Given the description of an element on the screen output the (x, y) to click on. 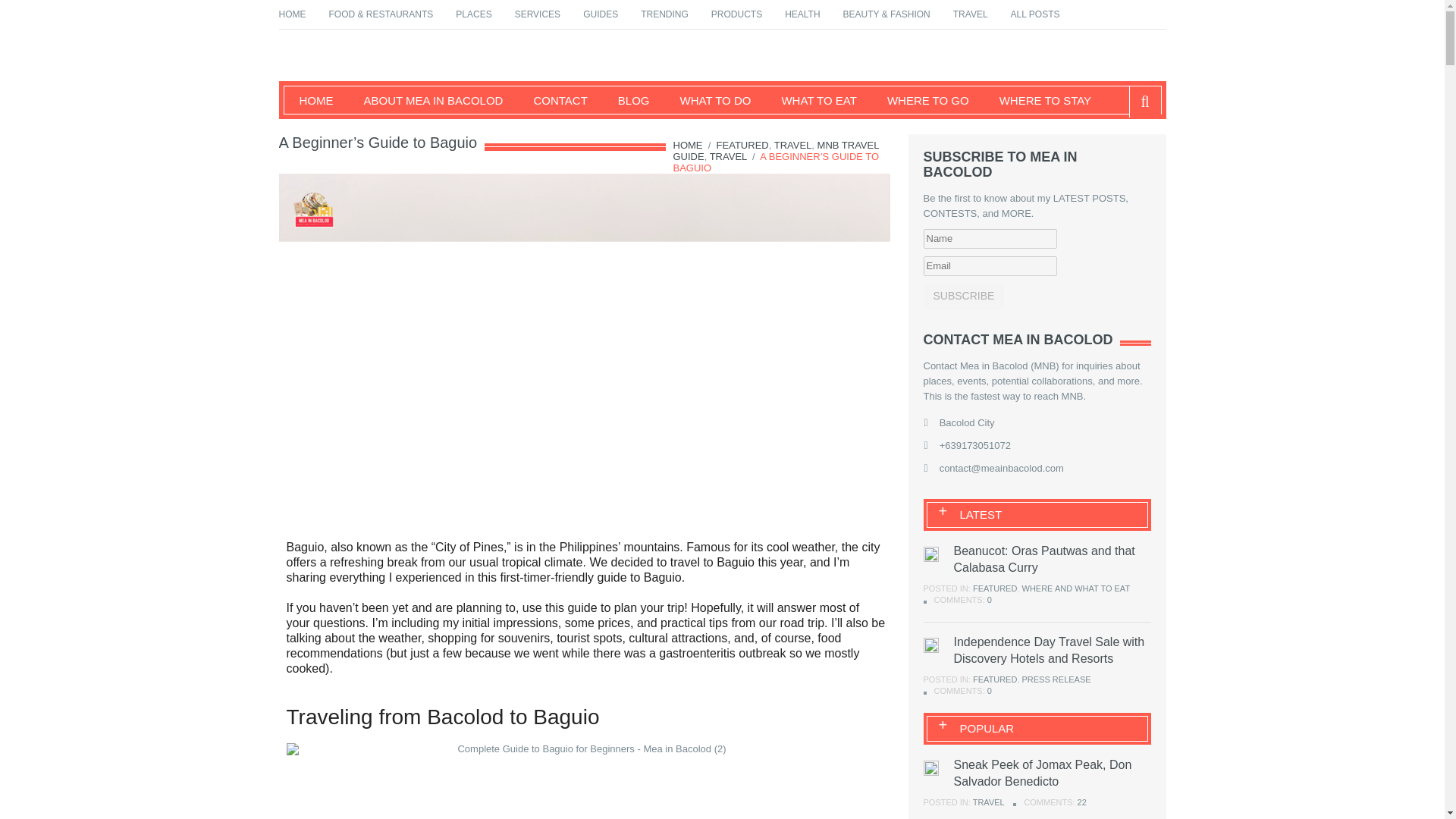
MNB TRAVEL GUIDE (775, 150)
WHAT TO EAT (810, 99)
HOME (308, 99)
CONTACT (552, 99)
HOME (687, 144)
PLACES (473, 14)
HOME (292, 14)
PRODUCTS (736, 14)
TRAVEL (793, 144)
BLOG (625, 99)
ALL POSTS (1034, 14)
TRENDING (664, 14)
SERVICES (537, 14)
Mea in Bacolod (362, 85)
GUIDES (600, 14)
